Given the description of an element on the screen output the (x, y) to click on. 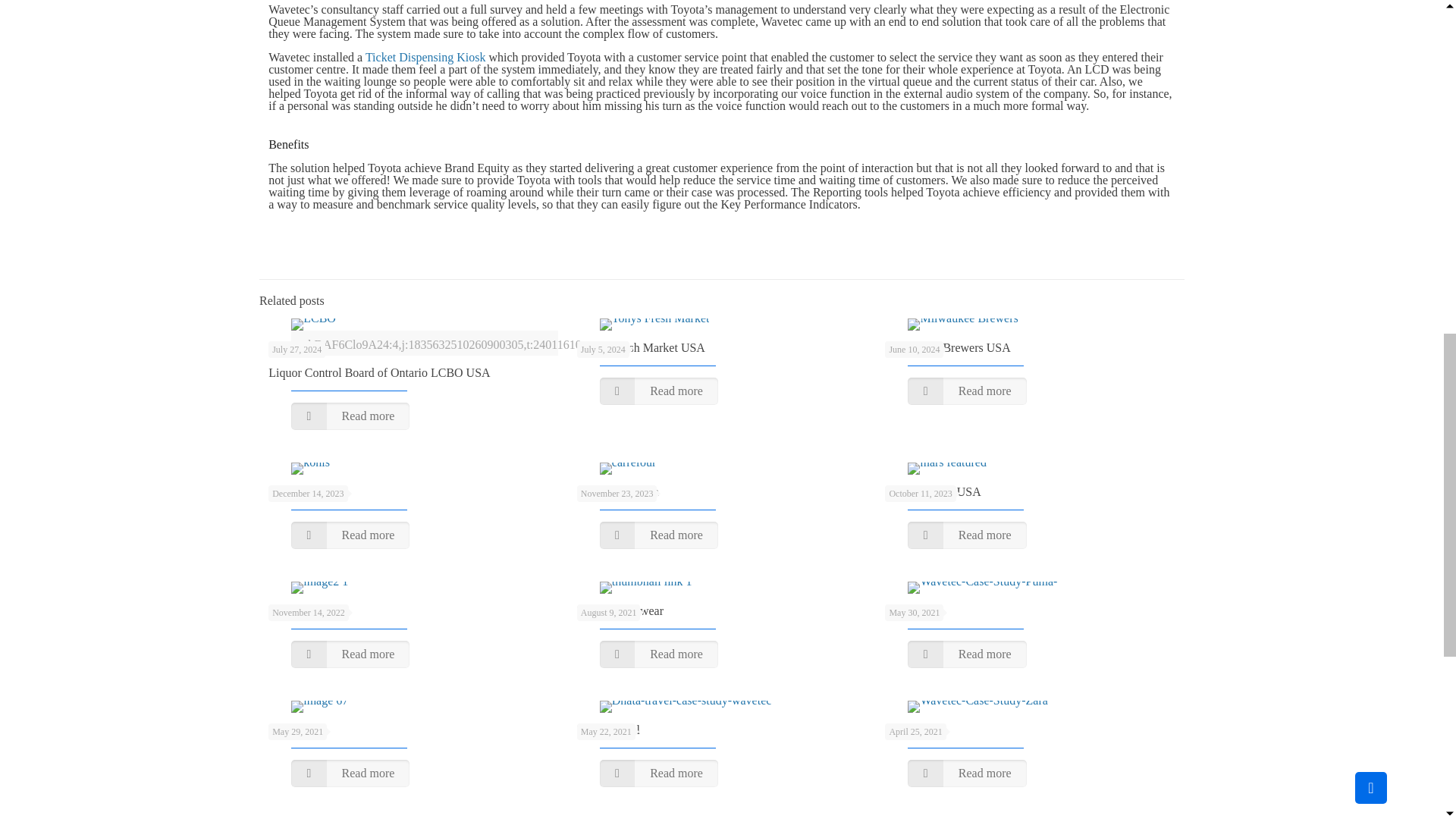
Liquor Control Board of Ontario LCBO USA 5 (313, 324)
Dnata Travel 15 (685, 706)
Carrefour Kenya 9 (627, 468)
Ticket Dispensing Kiosk (425, 56)
Disney 11 (319, 587)
Puma 13 (982, 587)
Read more (350, 415)
Kohl's USA 8 (310, 468)
Tony's Fresh Market USA 6 (654, 324)
Milwaukee Brewers USA 7 (962, 324)
